Given the description of an element on the screen output the (x, y) to click on. 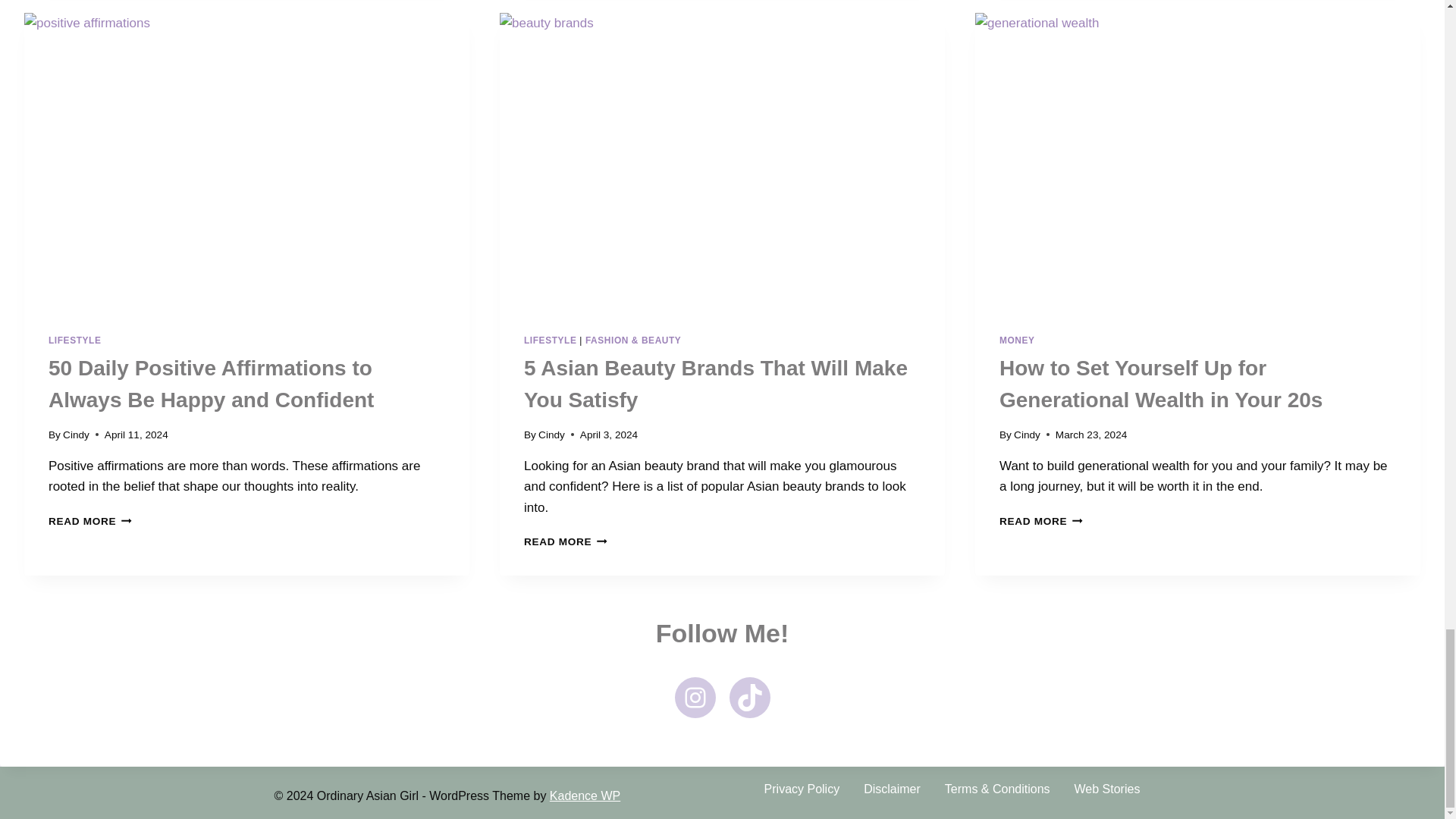
LIFESTYLE (74, 339)
LIFESTYLE (550, 339)
5 Asian Beauty Brands That Will Make You Satisfy (715, 383)
